Given the description of an element on the screen output the (x, y) to click on. 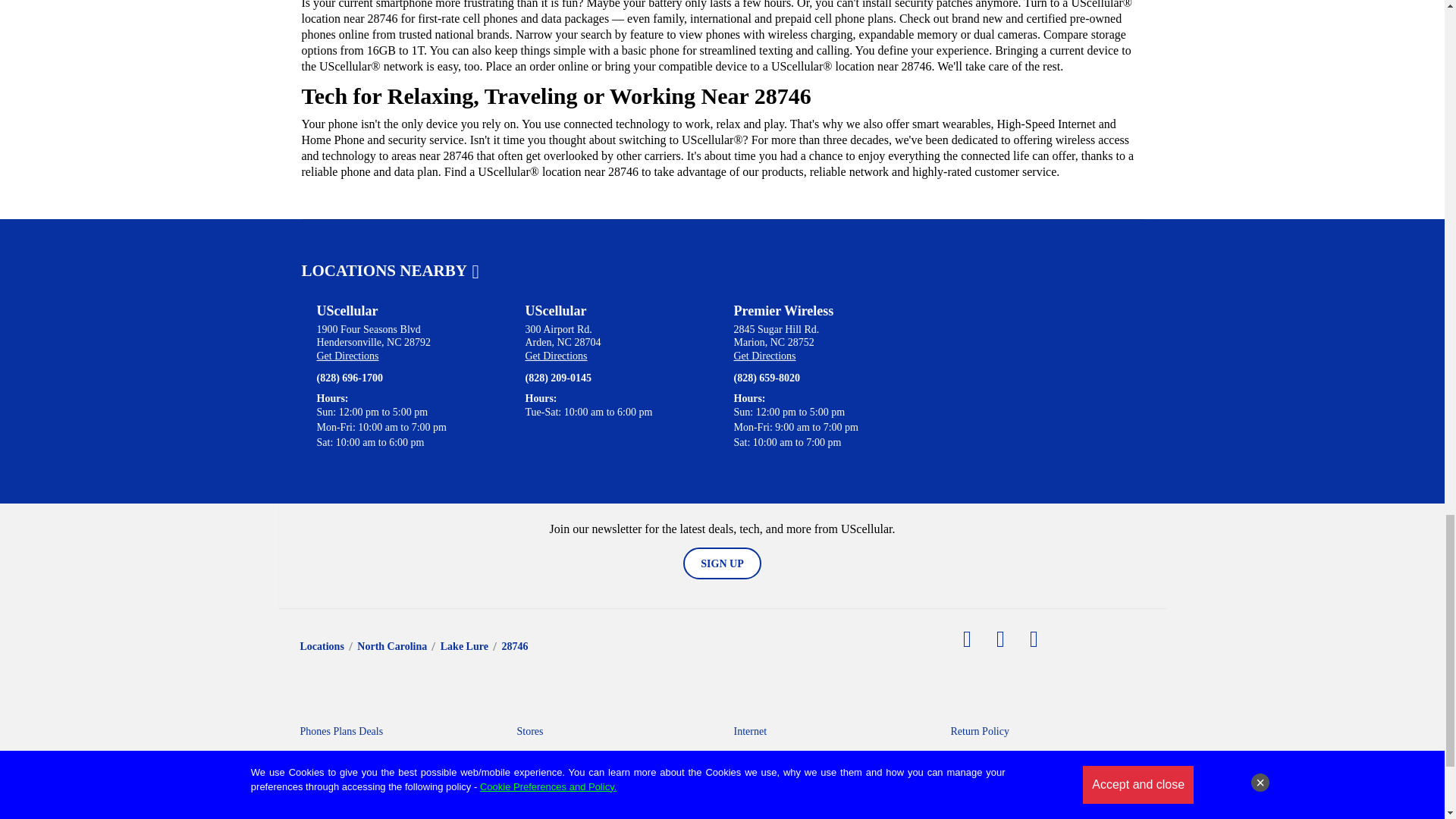
Get Directions (347, 355)
UScellular (347, 311)
LOCATIONS NEARBY (390, 270)
